Given the description of an element on the screen output the (x, y) to click on. 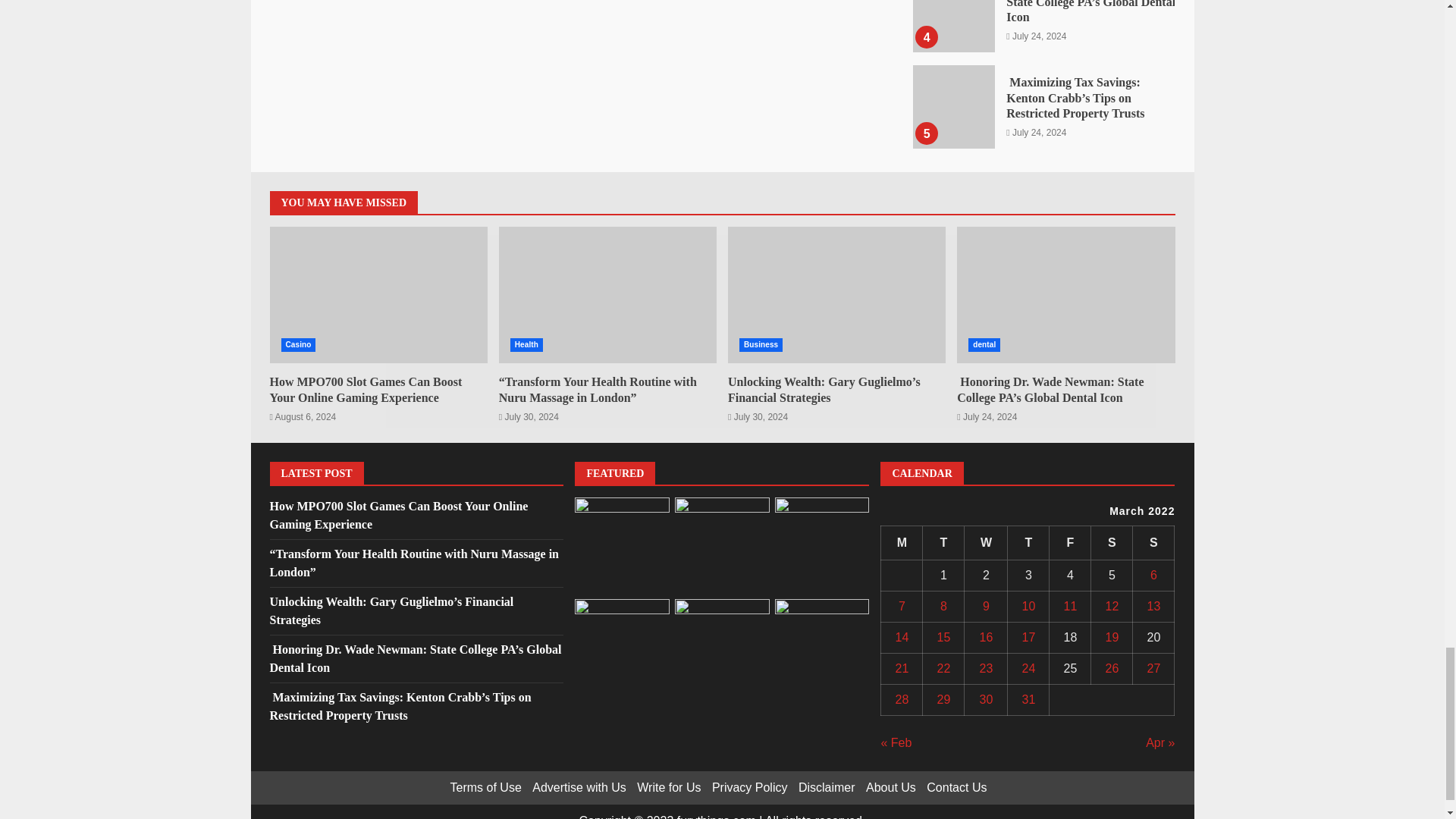
Sunday (1153, 542)
Wednesday (985, 542)
Saturday (1111, 542)
Tuesday (943, 542)
Monday (901, 542)
Thursday (1028, 542)
Friday (1069, 542)
